Given the description of an element on the screen output the (x, y) to click on. 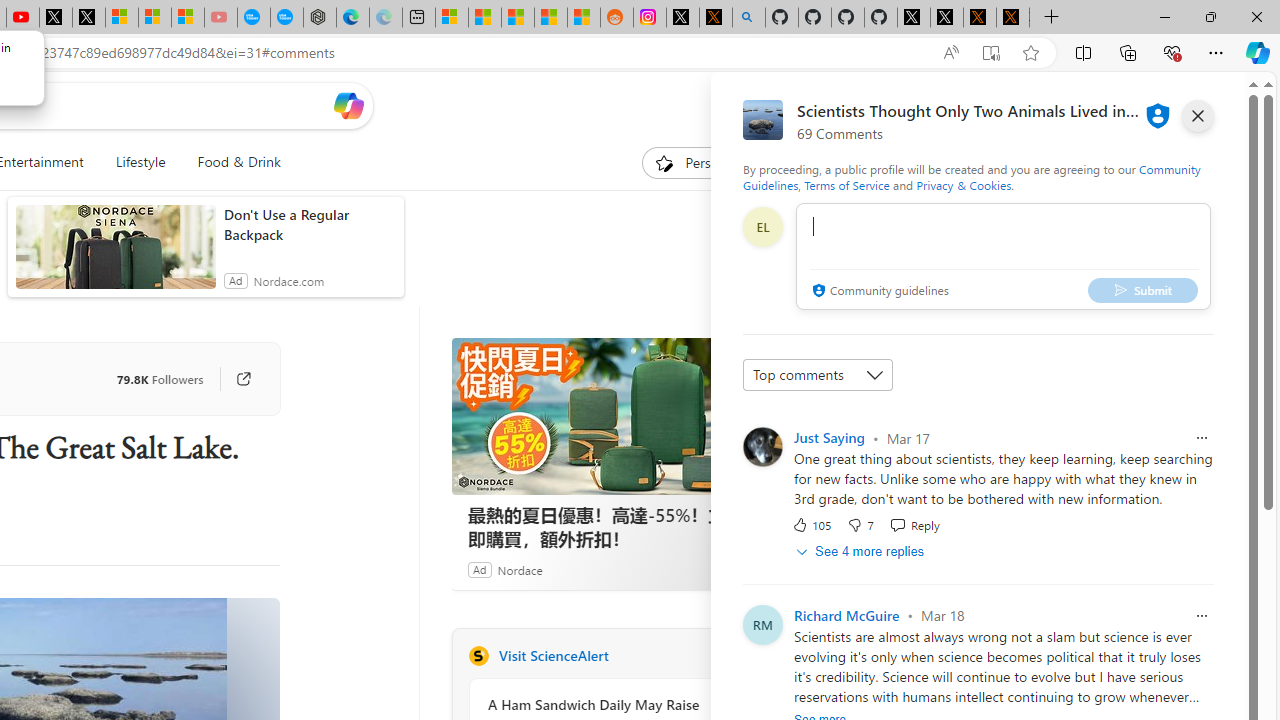
To get missing image descriptions, open the context menu. (664, 162)
Lifestyle (140, 162)
X Privacy Policy (1013, 17)
Don't Use a Regular Backpack (308, 224)
Report comment (1201, 615)
Shanghai, China Weather trends | Microsoft Weather (584, 17)
Richard McGuire (846, 614)
Go to publisher's site (243, 378)
Food & Drink (230, 162)
Open settings (1216, 105)
Nordace - Nordace has arrived Hong Kong (319, 17)
